Given the description of an element on the screen output the (x, y) to click on. 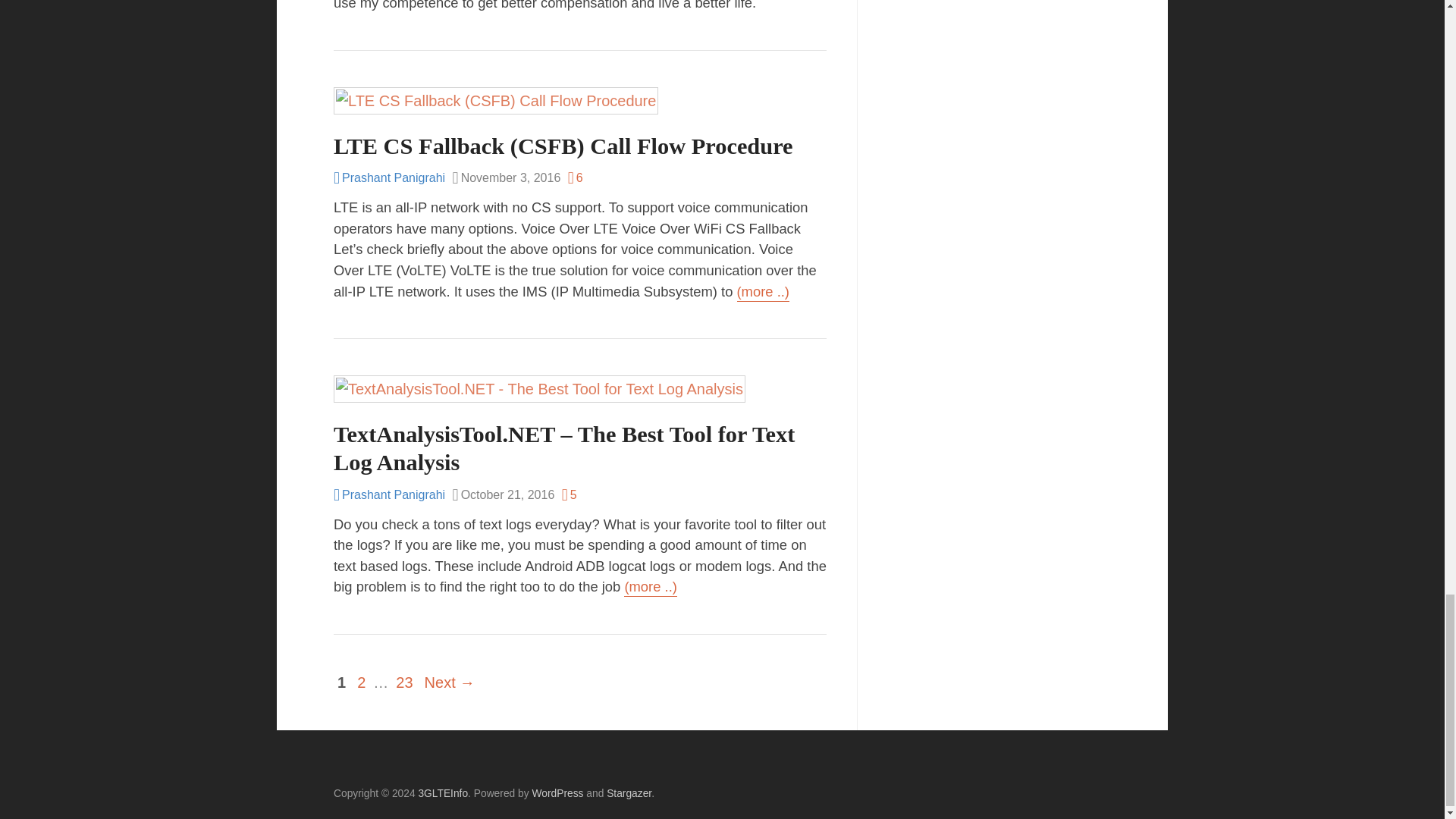
Friday, October 21, 2016, 4:05 pm (503, 495)
Prashant Panigrahi (389, 177)
Thursday, November 3, 2016, 4:02 pm (506, 178)
Posts by Prashant Panigrahi (389, 494)
Posts by Prashant Panigrahi (389, 177)
